Given the description of an element on the screen output the (x, y) to click on. 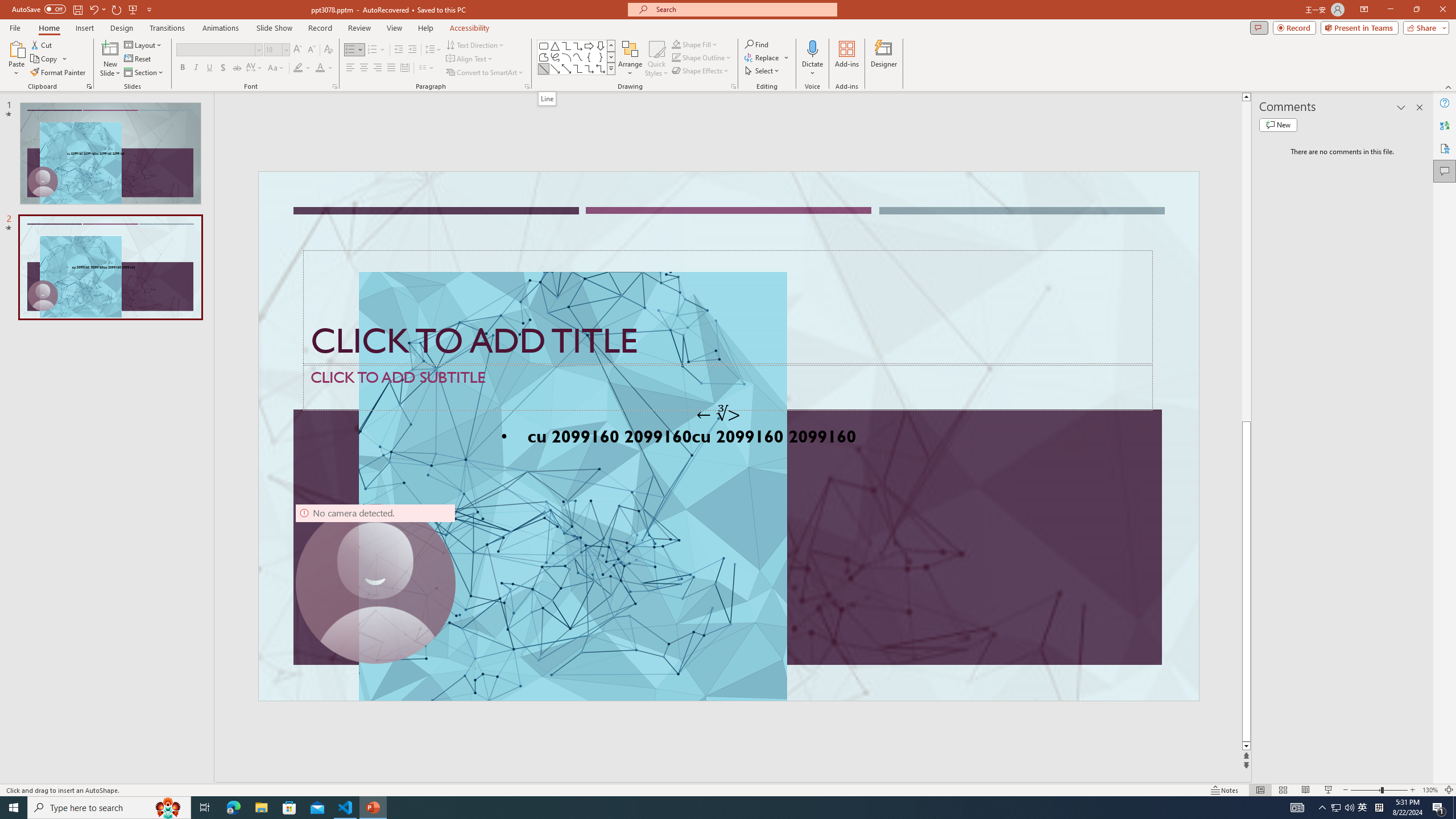
Numbering (372, 49)
Right Brace (600, 57)
Distributed (404, 67)
Ribbon Display Options (1364, 9)
Zoom 130% (1430, 790)
System (6, 6)
Open (285, 49)
Class: MsoCommandBar (728, 789)
Line (543, 68)
Arrow: Right (589, 45)
Align Right (377, 67)
Italic (195, 67)
Shapes (611, 68)
Record (1294, 27)
Bold (182, 67)
